Given the description of an element on the screen output the (x, y) to click on. 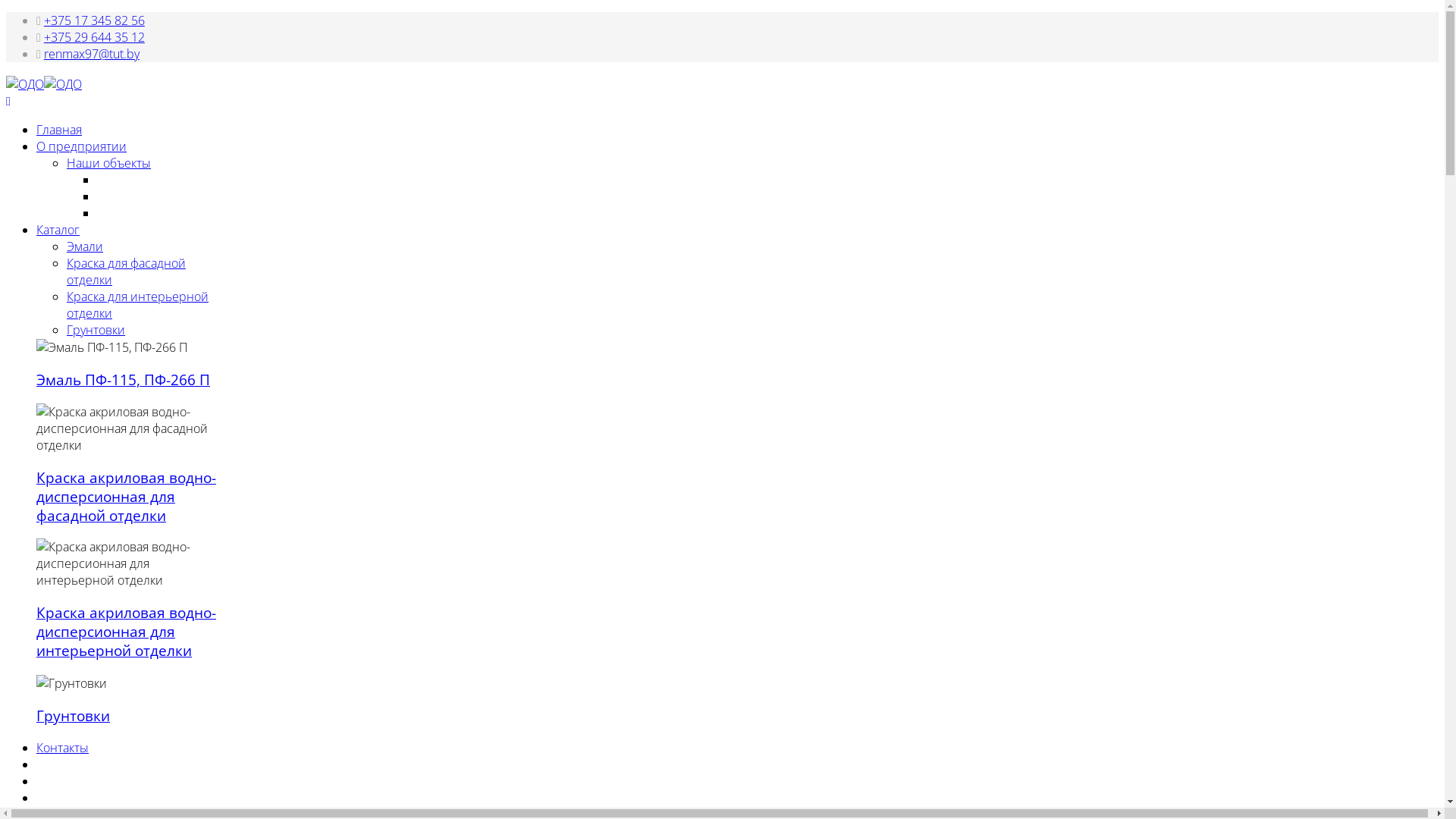
renmax97@tut.by Element type: text (91, 53)
+375 29 644 35 12 Element type: text (93, 36)
Helix3 Megamenu Options Element type: hover (8, 101)
+375 17 345 82 56 Element type: text (93, 20)
